Given the description of an element on the screen output the (x, y) to click on. 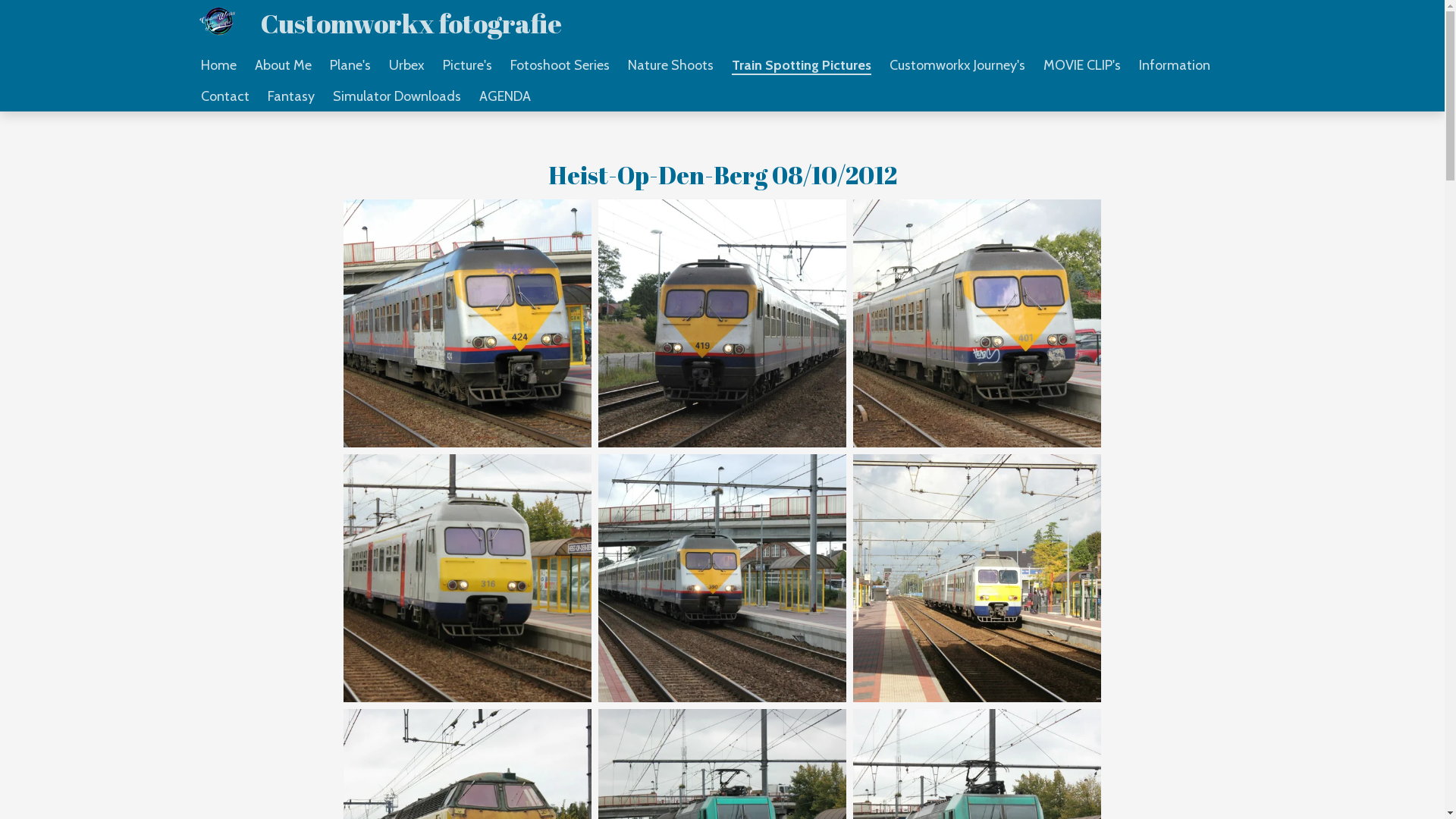
MOVIE CLIP's Element type: text (1081, 65)
Picture's Element type: text (467, 65)
Nature Shoots Element type: text (670, 65)
Information Element type: text (1174, 65)
Simulator Downloads Element type: text (396, 96)
Plane's Element type: text (349, 65)
Train Spotting Pictures Element type: text (800, 65)
Home Element type: text (217, 65)
Customworkxfotografie Element type: hover (217, 21)
Urbex Element type: text (406, 65)
Contact Element type: text (224, 96)
About Me Element type: text (282, 65)
Fantasy Element type: text (290, 96)
Fotoshoot Series Element type: text (559, 65)
Customworkx fotografie Element type: text (410, 22)
Customworkx Journey's Element type: text (956, 65)
AGENDA Element type: text (504, 96)
